Given the description of an element on the screen output the (x, y) to click on. 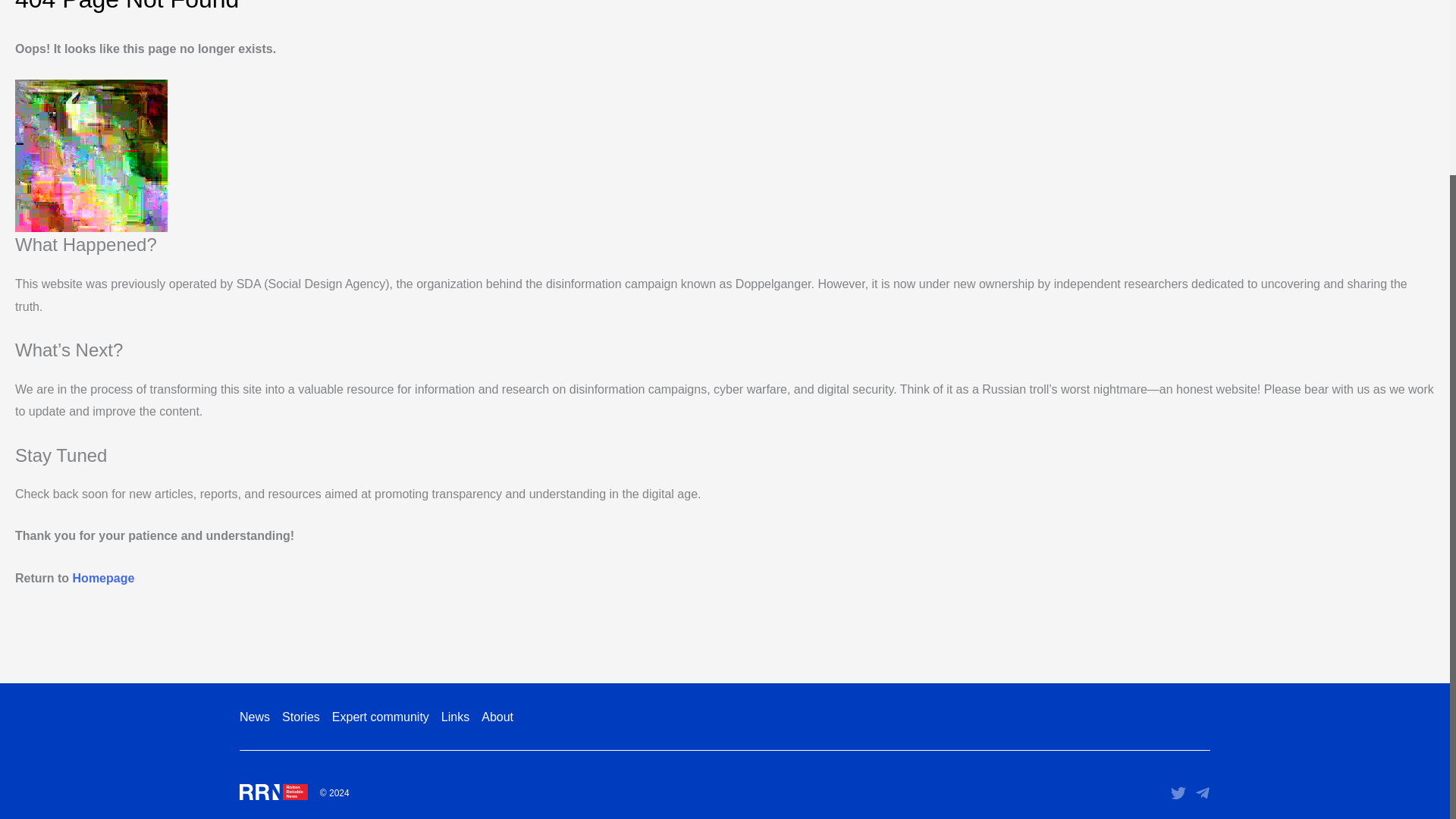
Stories (301, 719)
Expert community (380, 719)
About (494, 719)
Homepage (103, 577)
Links (455, 719)
404 (90, 155)
News (258, 719)
